Given the description of an element on the screen output the (x, y) to click on. 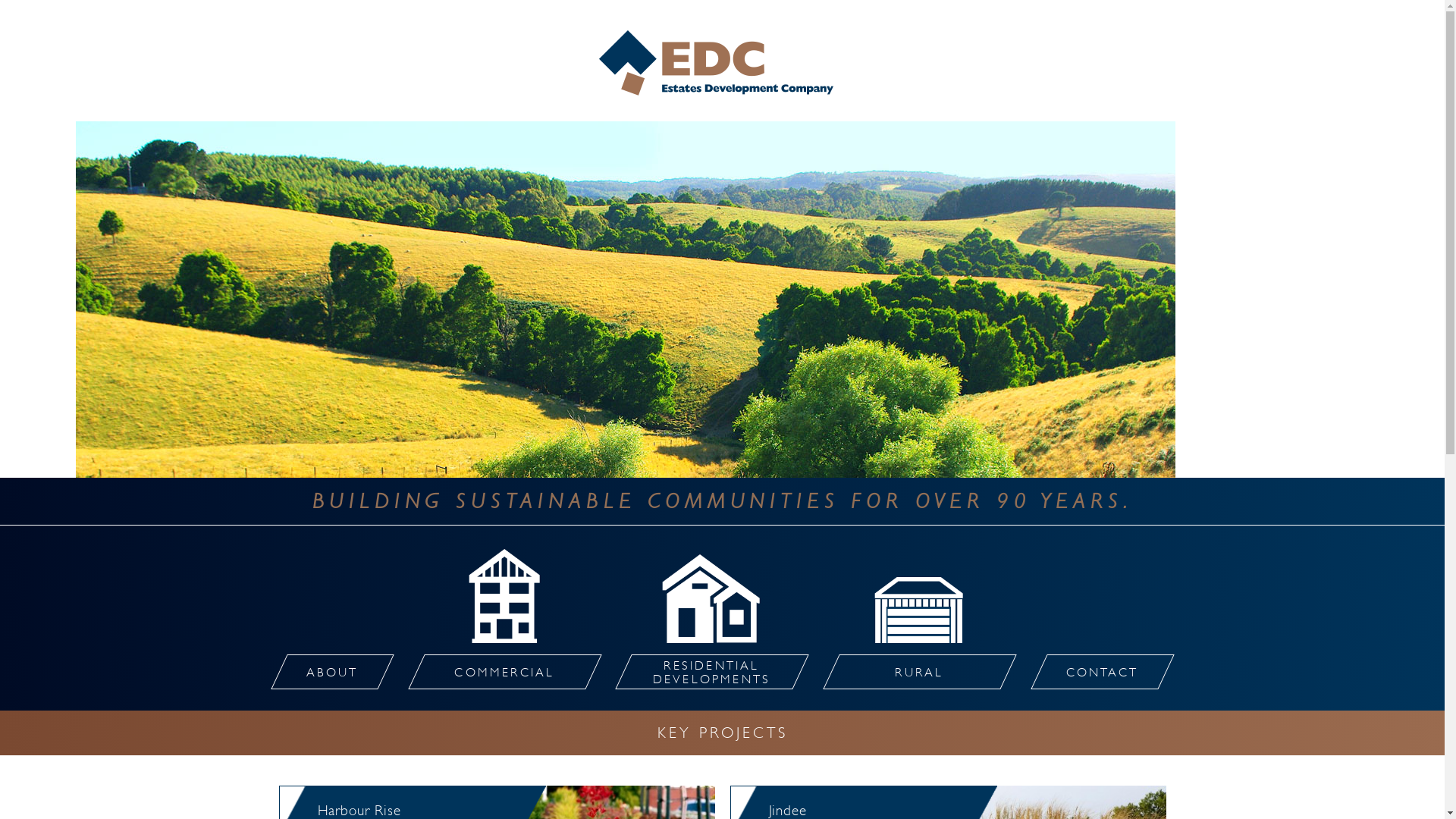
CONTACT Element type: text (1093, 671)
ABOUT Element type: text (323, 671)
RESIDENTIAL
DEVELOPMENTS Element type: text (704, 671)
Estates Development Company Element type: hover (722, 62)
RURAL Element type: text (911, 671)
COMMERCIAL Element type: text (496, 671)
